Given the description of an element on the screen output the (x, y) to click on. 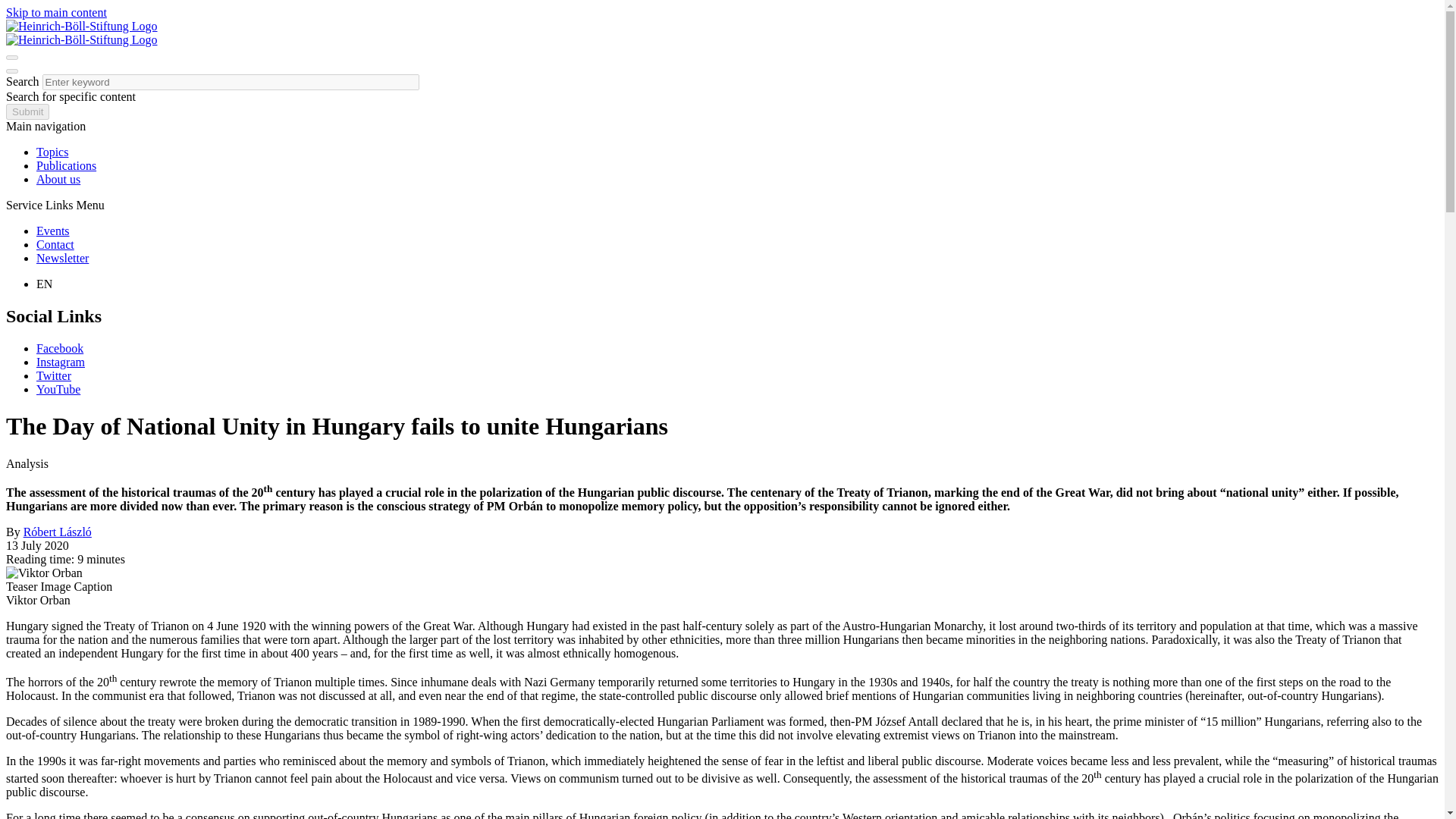
Skip to main content (55, 11)
Twitter (53, 375)
Viktor Orban (43, 572)
Events (52, 230)
Publications (66, 164)
Submit (27, 111)
Contact (55, 244)
YouTube (58, 389)
Newsletter (62, 257)
Home (81, 39)
Topics (52, 151)
Home (81, 25)
Instagram (60, 361)
About us (58, 178)
Submit (27, 111)
